Given the description of an element on the screen output the (x, y) to click on. 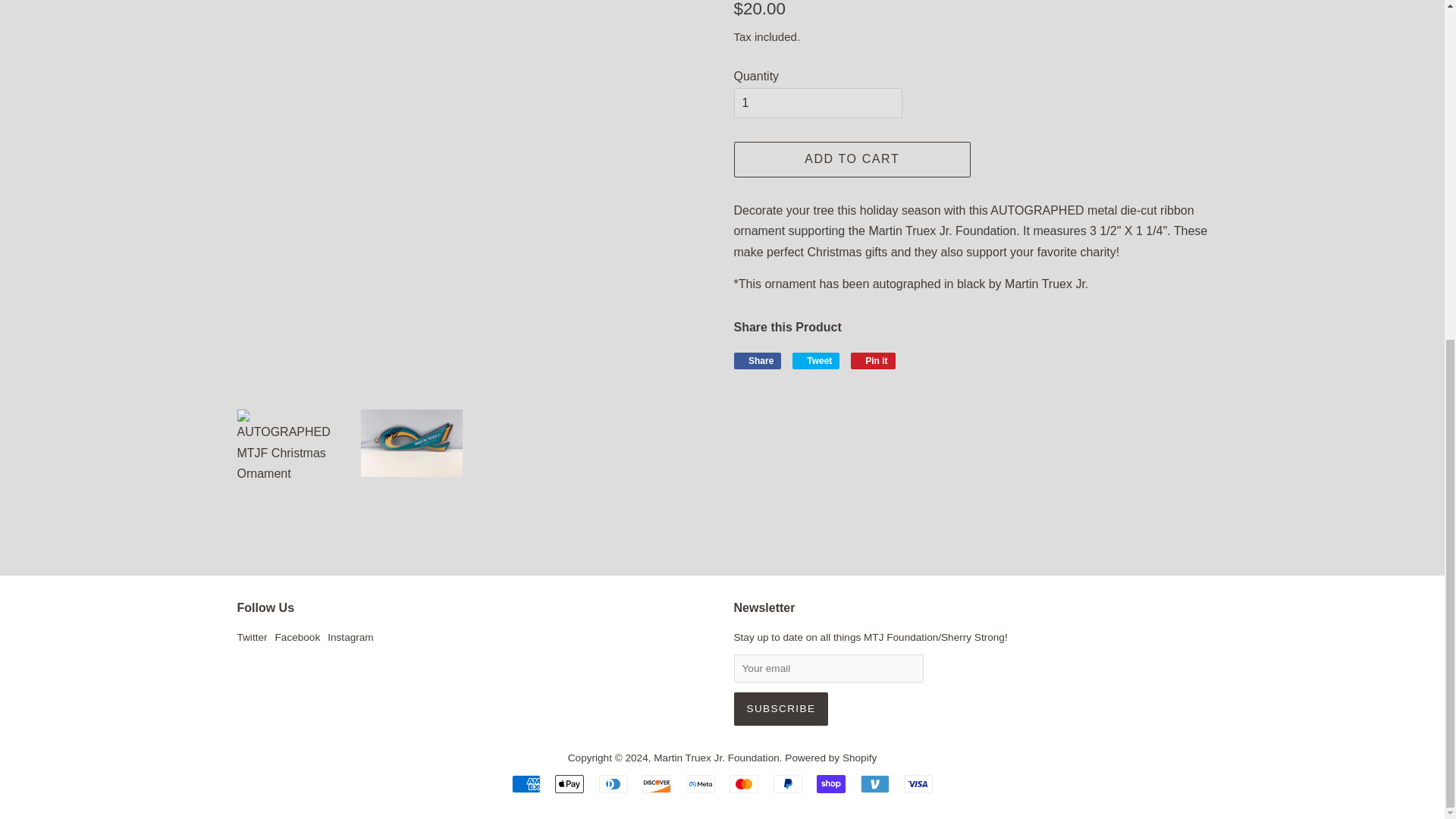
Subscribe (780, 708)
Apple Pay (568, 783)
Share on Facebook (757, 360)
Tweet on Twitter (816, 360)
American Express (526, 783)
Martin Truex Jr. Foundation on Facebook (297, 636)
Instagram (349, 636)
Subscribe (780, 708)
Shop Pay (830, 783)
Facebook (297, 636)
